Given the description of an element on the screen output the (x, y) to click on. 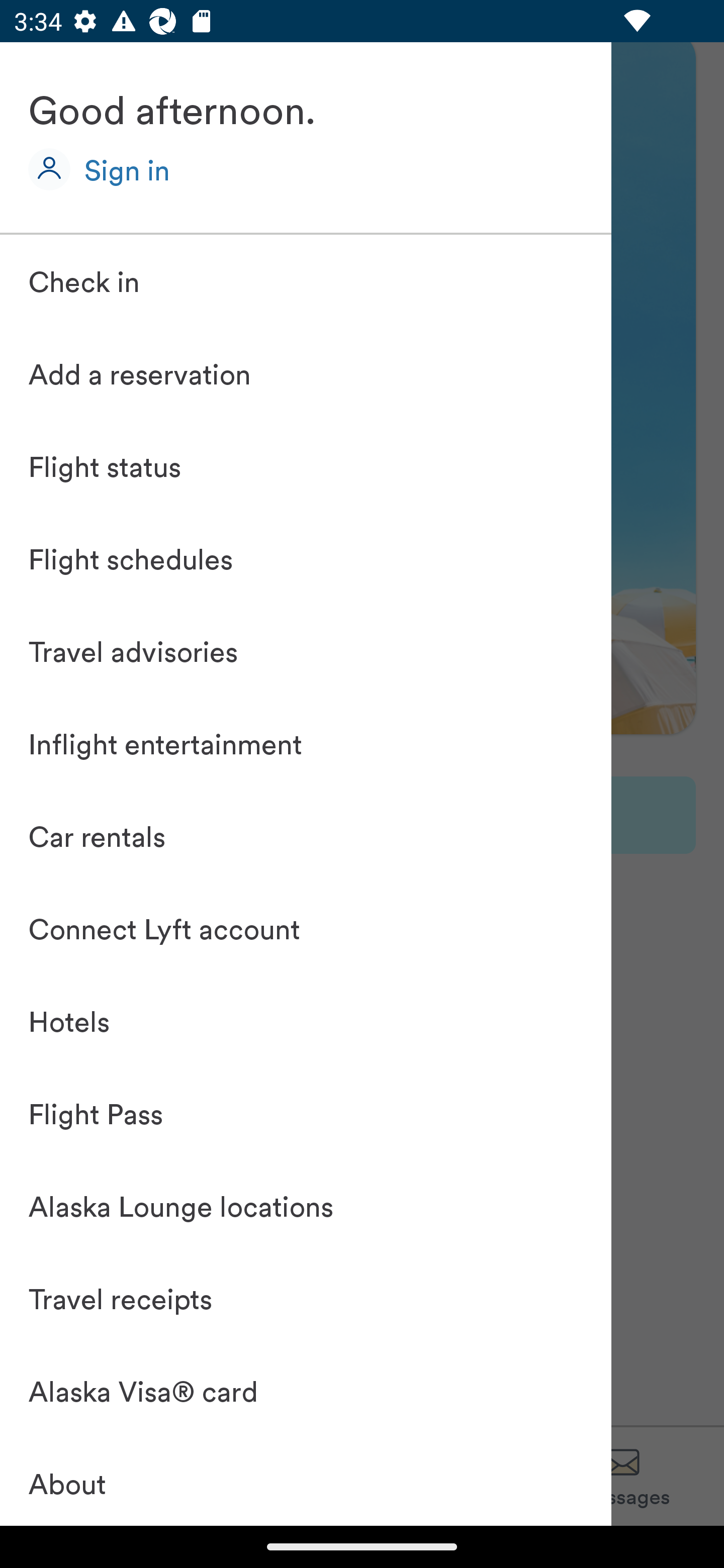
Sign in (127, 169)
Check in (305, 281)
Add a reservation (305, 373)
Flight status (305, 466)
Flight schedules (305, 558)
Travel advisories (305, 651)
Inflight entertainment (305, 743)
Car rentals (305, 835)
Connect Lyft account (305, 927)
Hotels (305, 1019)
Flight Pass (305, 1112)
Alaska Lounge locations (305, 1204)
Travel receipts (305, 1297)
Alaska Visa® card (305, 1389)
About (305, 1480)
